Given the description of an element on the screen output the (x, y) to click on. 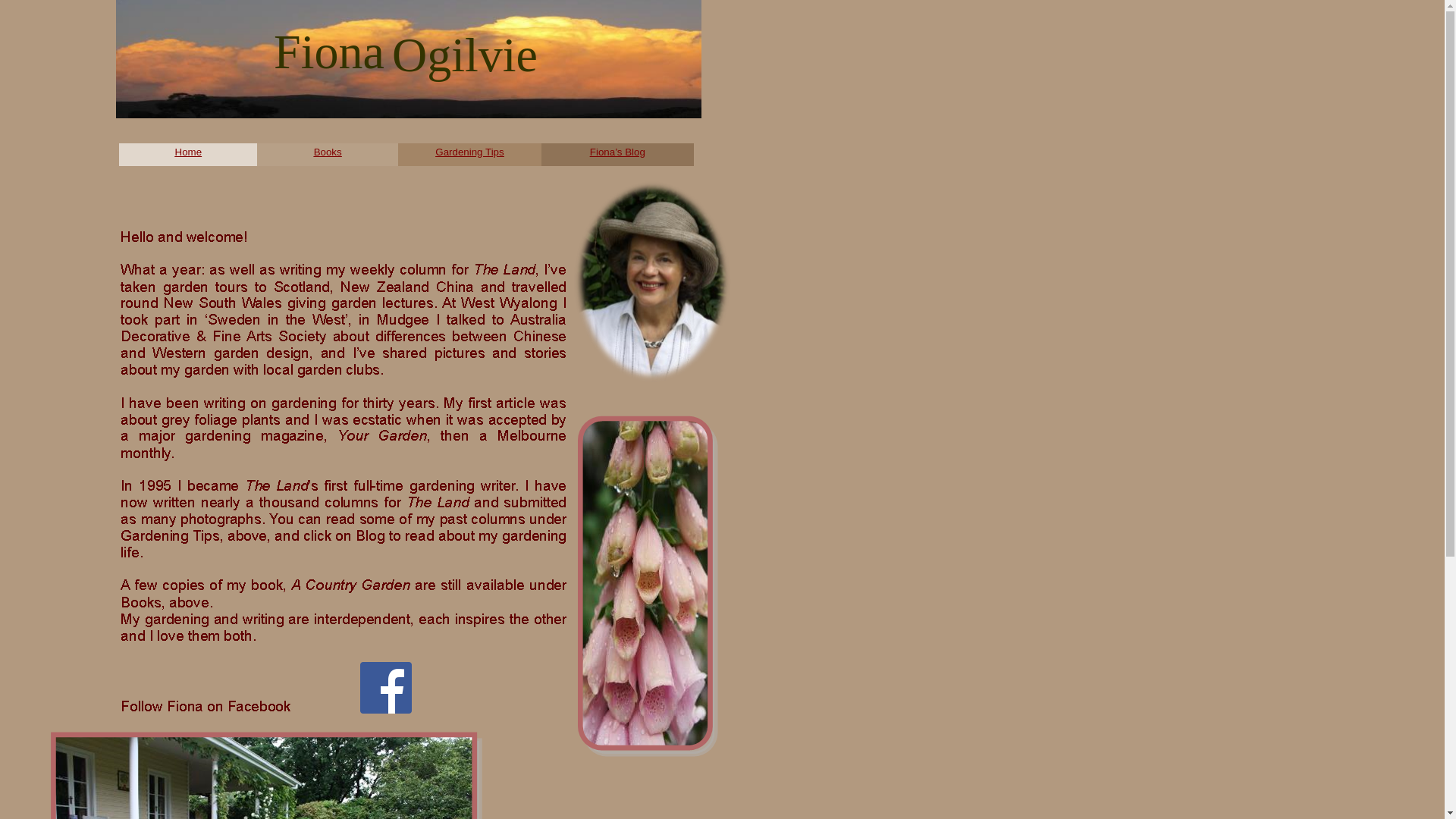
Books Element type: text (327, 150)
Gardening Tips Element type: text (469, 150)
Home Element type: text (188, 150)
